Given the description of an element on the screen output the (x, y) to click on. 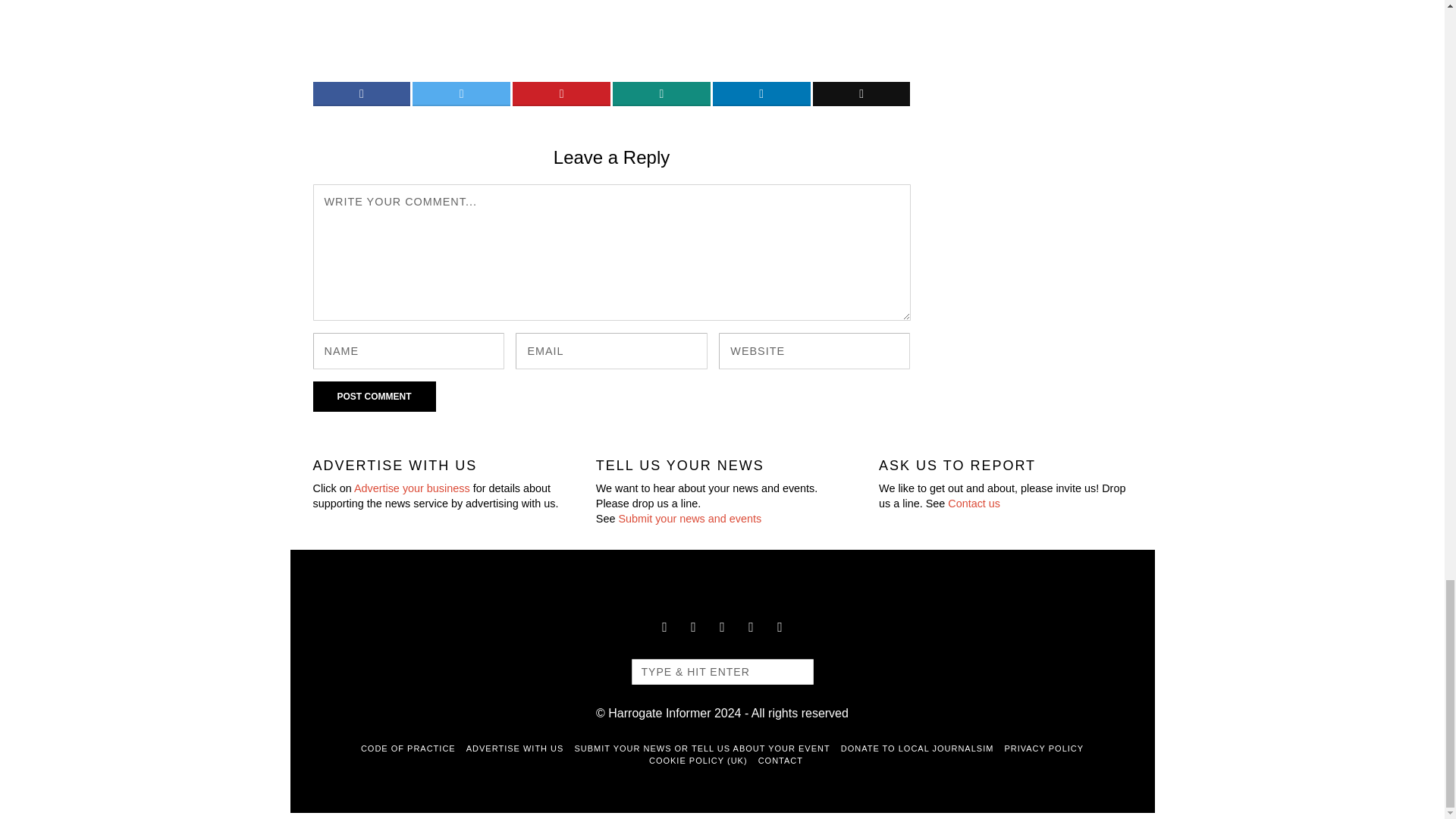
Go (794, 671)
Advertise your business (411, 488)
Post Comment (374, 396)
Post Comment (374, 396)
